Given the description of an element on the screen output the (x, y) to click on. 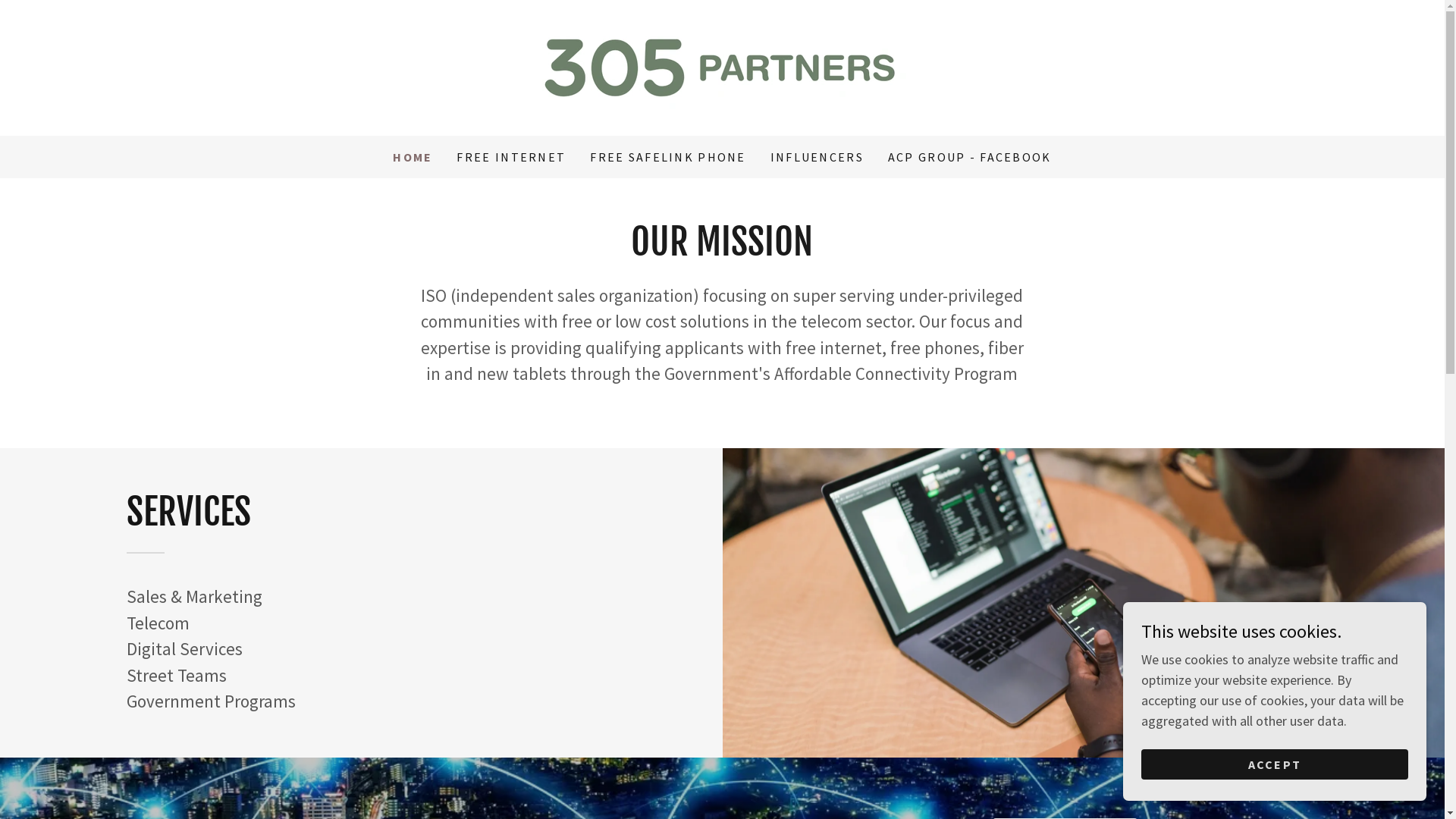
FREE SAFELINK PHONE Element type: text (667, 156)
INFLUENCERS Element type: text (816, 156)
ACCEPT Element type: text (1274, 764)
HOME Element type: text (412, 156)
ACP GROUP - FACEBOOK Element type: text (969, 156)
FREE INTERNET Element type: text (510, 156)
